Given the description of an element on the screen output the (x, y) to click on. 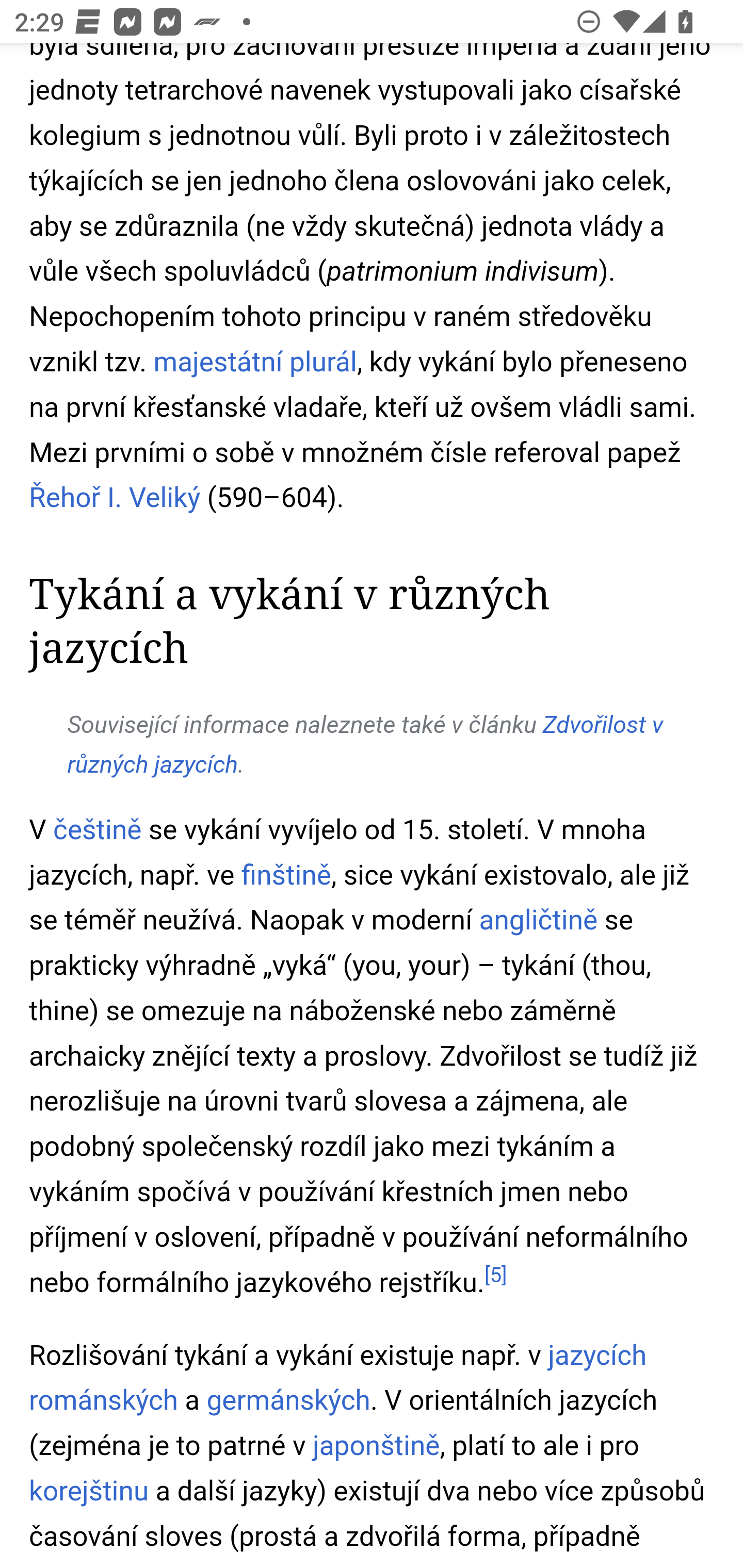
majestátní plurál (254, 363)
Řehoř I. Veliký (115, 498)
Zdvořilost v různých jazycích (365, 745)
češtině (97, 829)
finštině (285, 876)
angličtině (538, 921)
[] [ 5 ] (495, 1275)
jazycích románských (337, 1379)
germánských (288, 1401)
japonštině (375, 1447)
korejštinu (88, 1490)
